Given the description of an element on the screen output the (x, y) to click on. 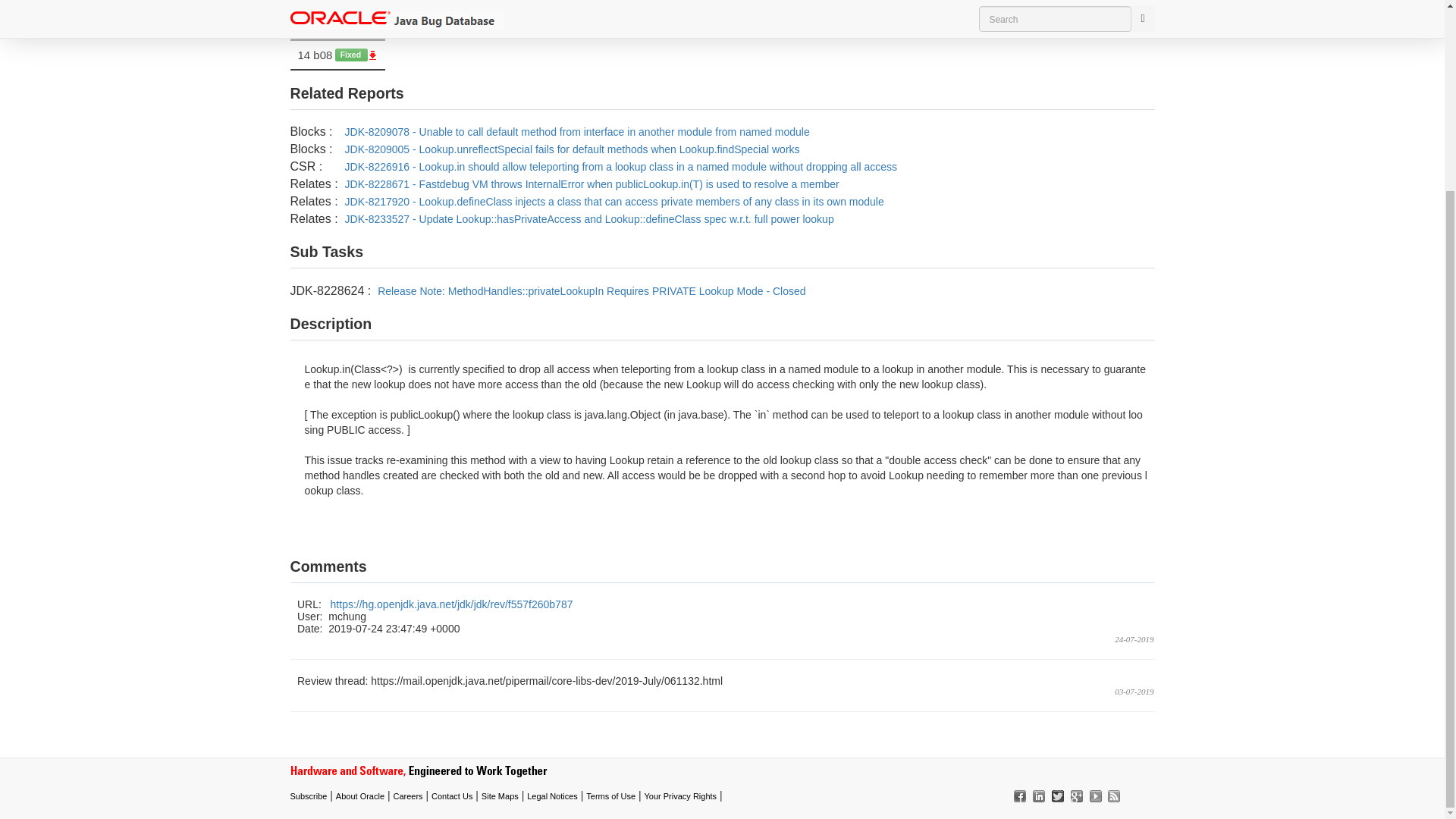
Contact Us (450, 795)
Legal Notices (552, 795)
Careers (407, 795)
Site Maps (499, 795)
About Oracle (360, 795)
